Given the description of an element on the screen output the (x, y) to click on. 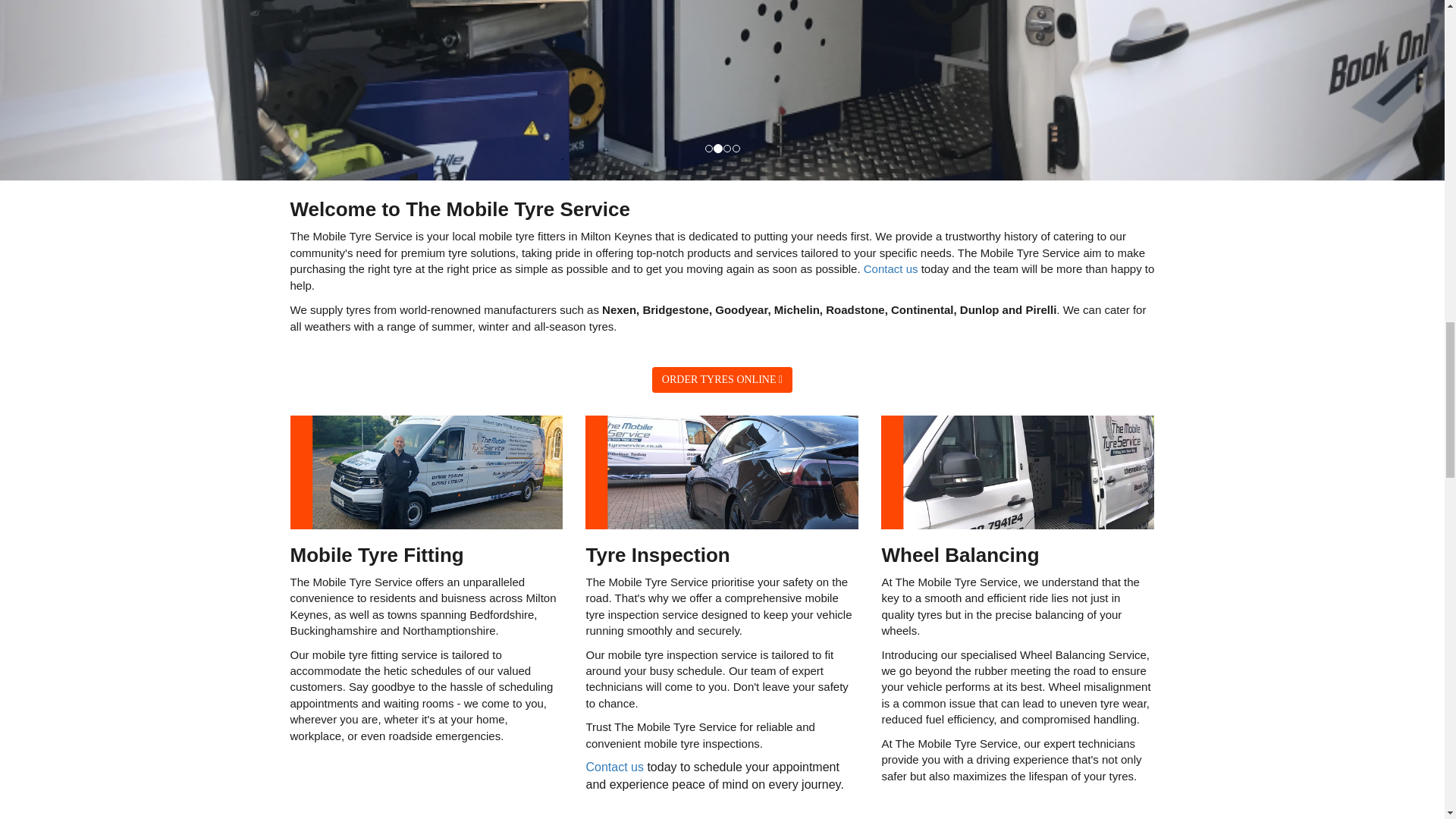
ORDER TYRES ONLINE (722, 379)
Order Tyres Online (722, 379)
Contact us (890, 268)
Contact us (614, 766)
